Given the description of an element on the screen output the (x, y) to click on. 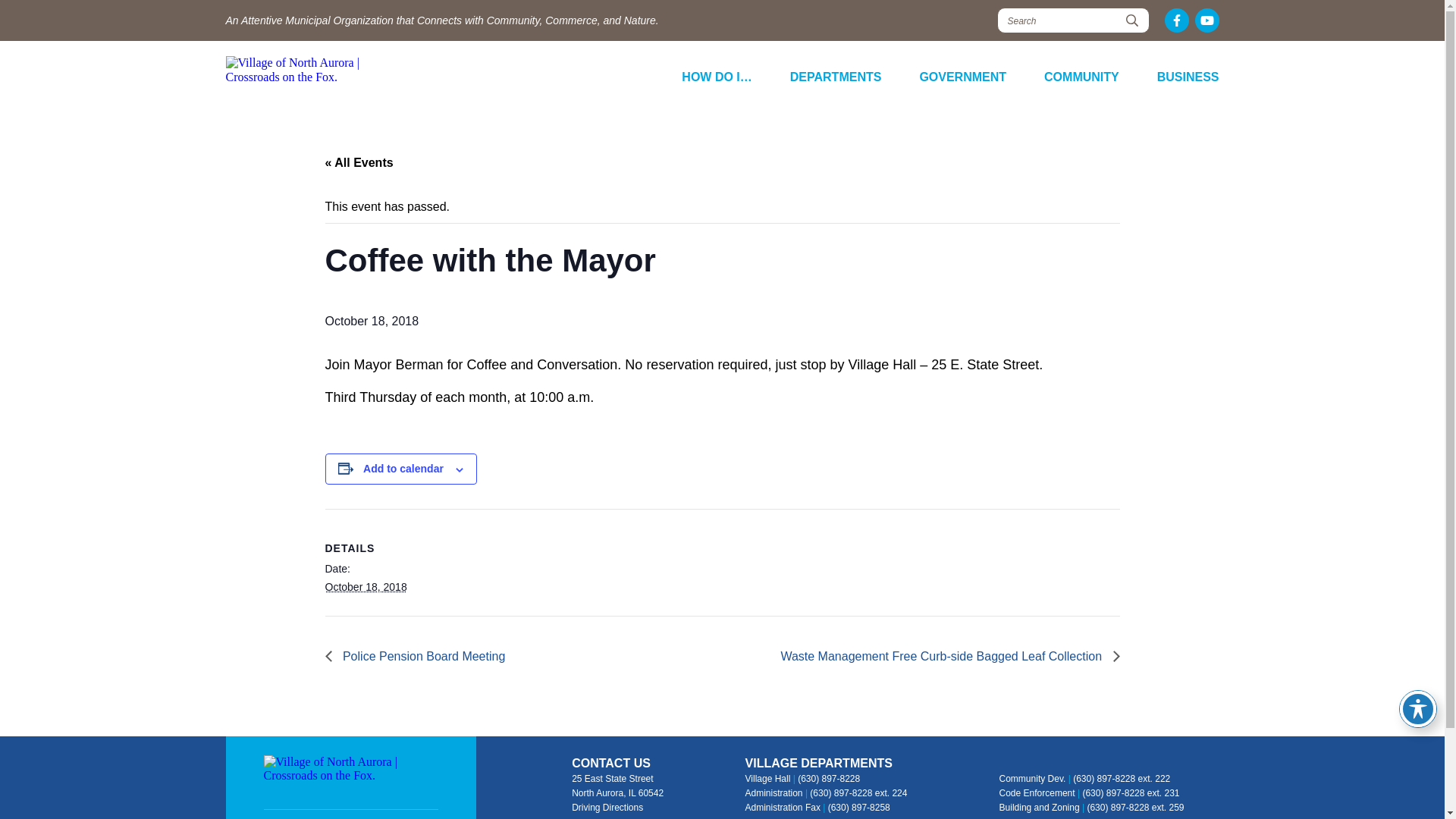
2018-10-18 (365, 586)
DEPARTMENTS (836, 76)
